Given the description of an element on the screen output the (x, y) to click on. 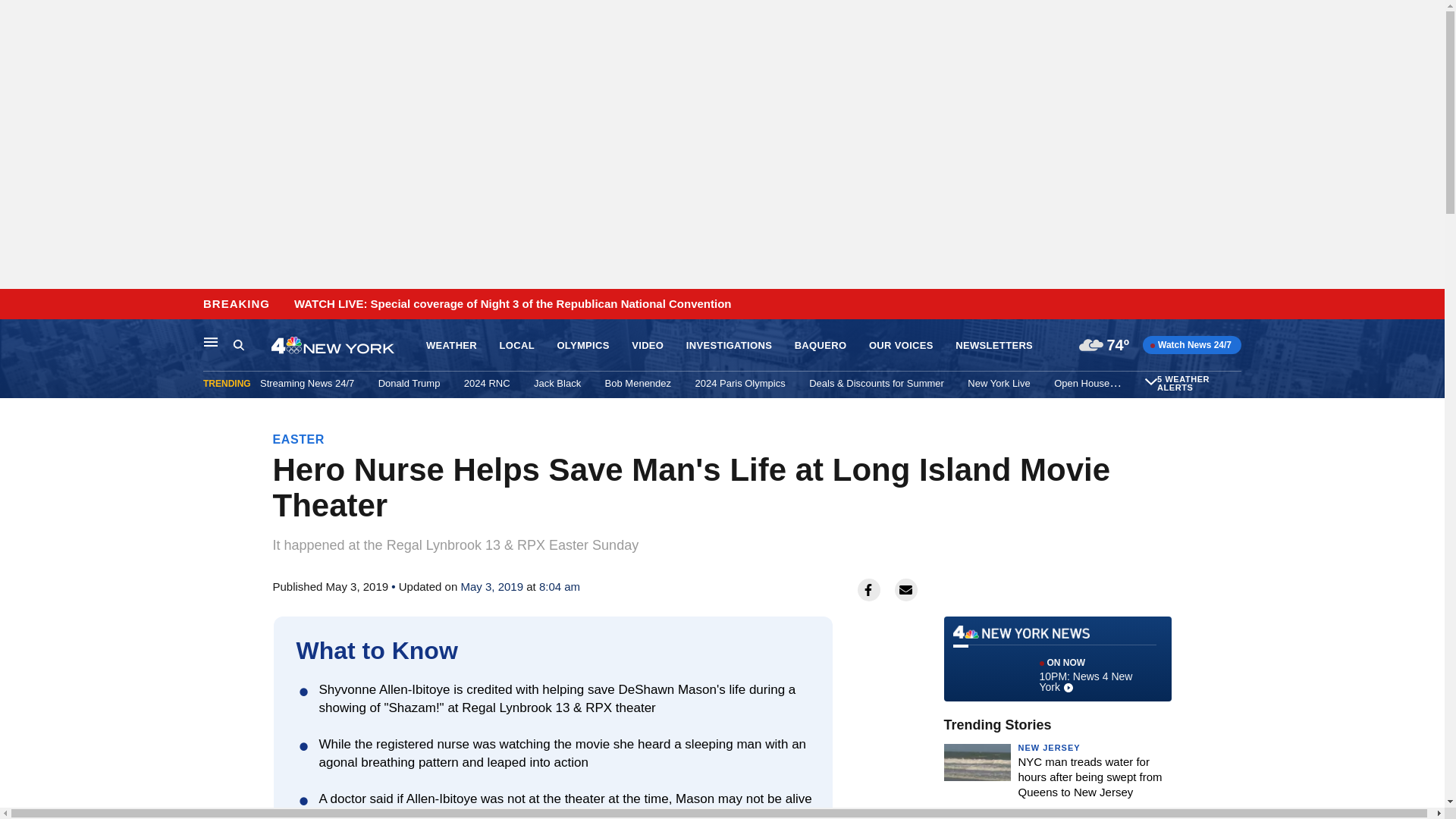
LOCAL (516, 345)
2024 Paris Olympics (739, 383)
Bob Menendez (638, 383)
Donald Trump (409, 383)
2024 RNC (487, 383)
Search (252, 345)
Skip to content (16, 304)
Main Navigation (210, 341)
Jack Black (557, 383)
Open House (1081, 383)
Search (238, 344)
EASTER (298, 439)
INVESTIGATIONS (728, 345)
WEATHER (451, 345)
OLYMPICS (582, 345)
